Given the description of an element on the screen output the (x, y) to click on. 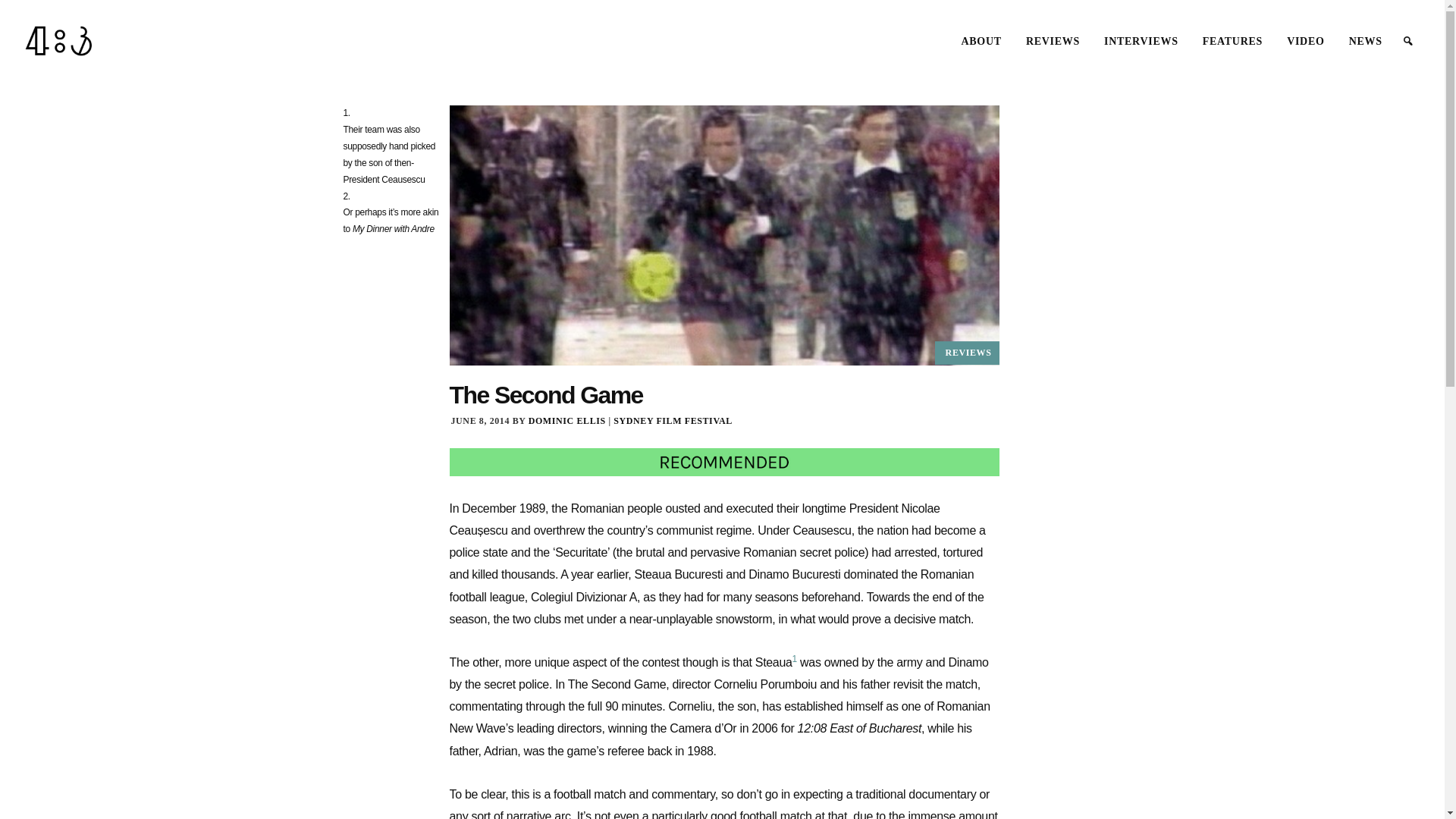
INTERVIEWS (1141, 41)
NEWS (1365, 41)
DOMINIC ELLIS (566, 420)
4:3 (59, 40)
REVIEWS (967, 353)
Search (30, 18)
FEATURES (1232, 41)
SYDNEY FILM FESTIVAL (672, 420)
VIDEO (1305, 41)
ABOUT (980, 41)
